Given the description of an element on the screen output the (x, y) to click on. 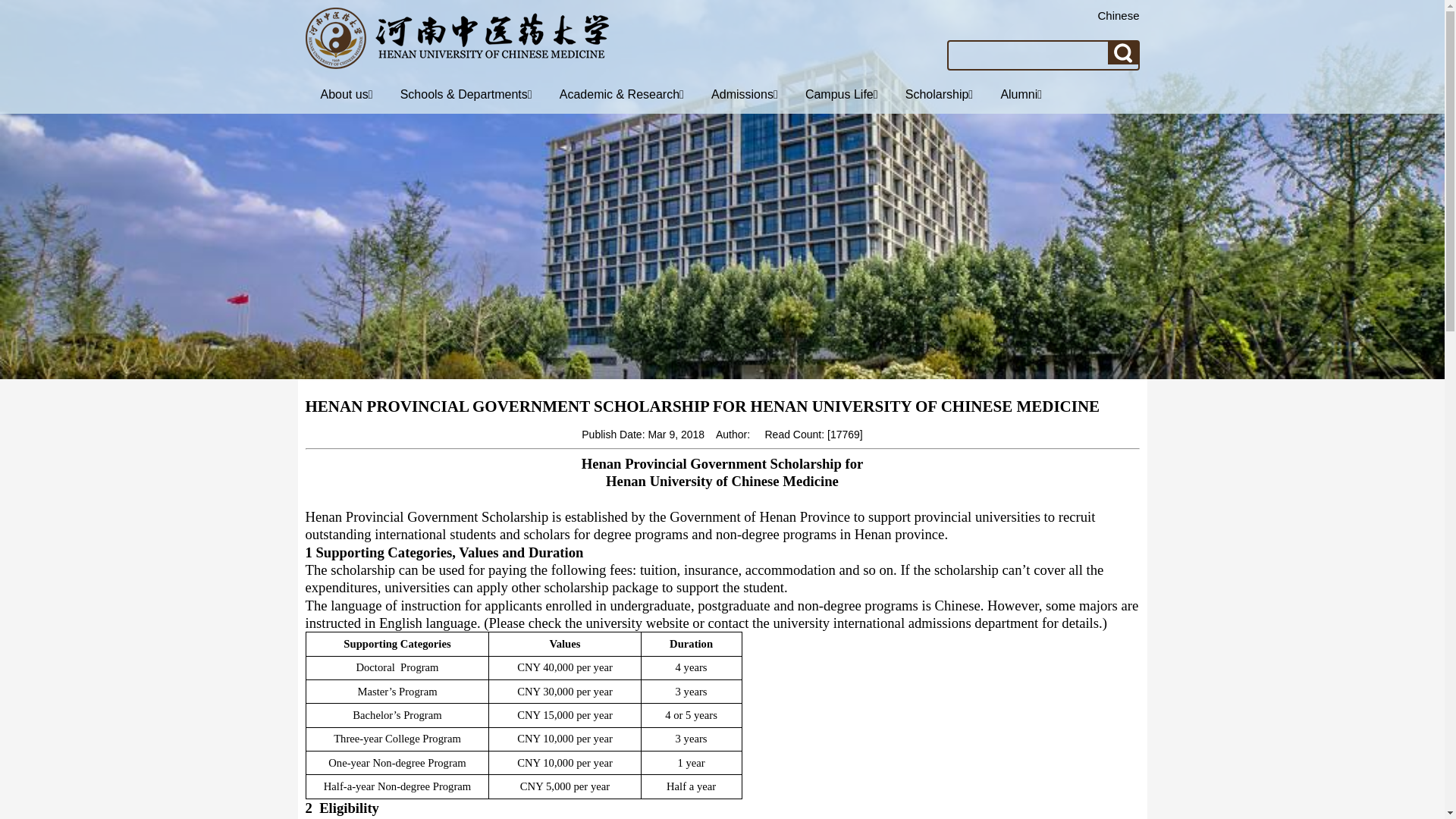
Admissions (744, 93)
About us (346, 93)
Scholarship (938, 93)
Alumni (1021, 93)
Campus Life (841, 93)
Chinese (1117, 15)
